Given the description of an element on the screen output the (x, y) to click on. 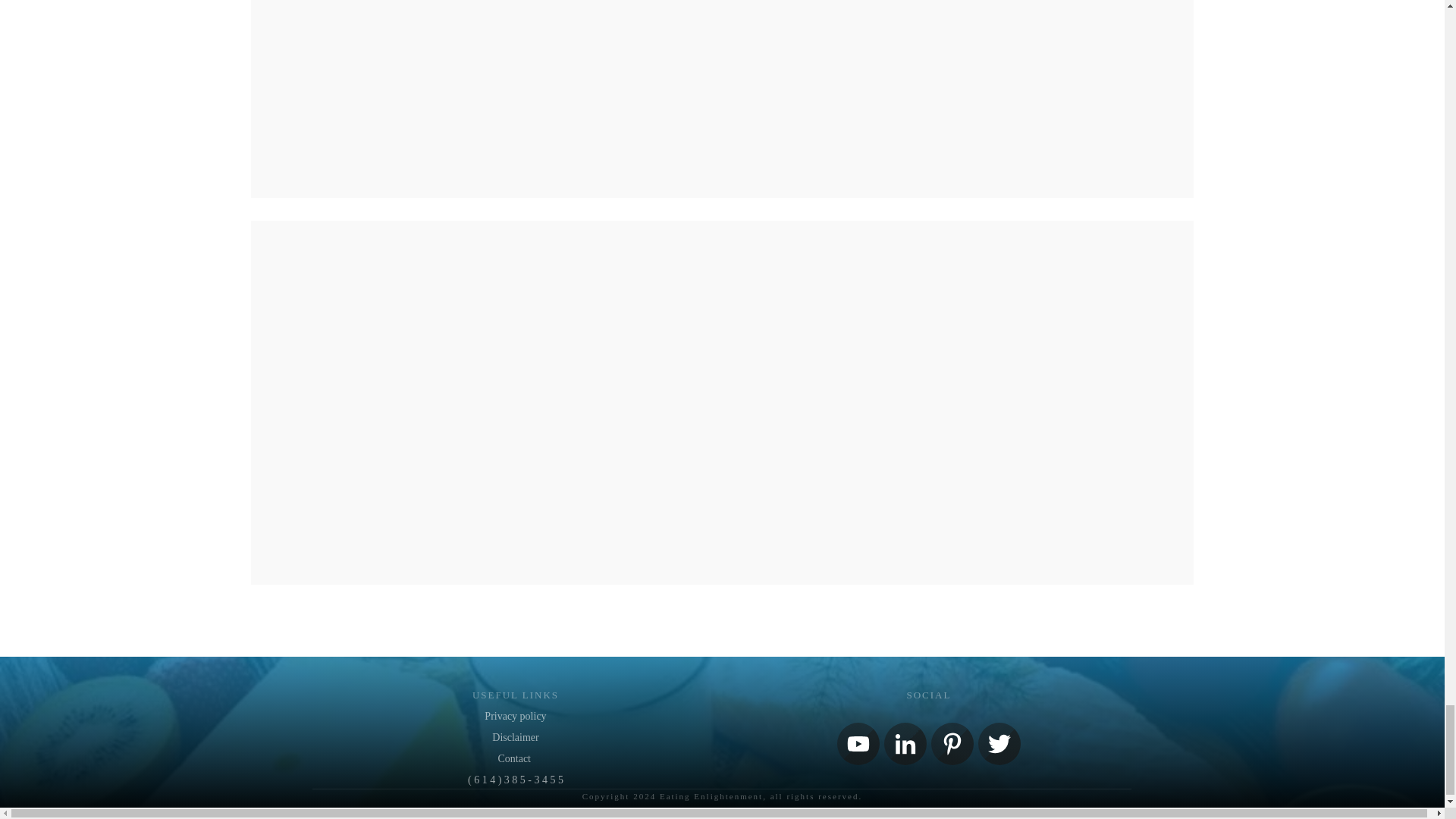
Contact  (514, 758)
Disclaimer (515, 737)
Privacy policy (515, 715)
